Given the description of an element on the screen output the (x, y) to click on. 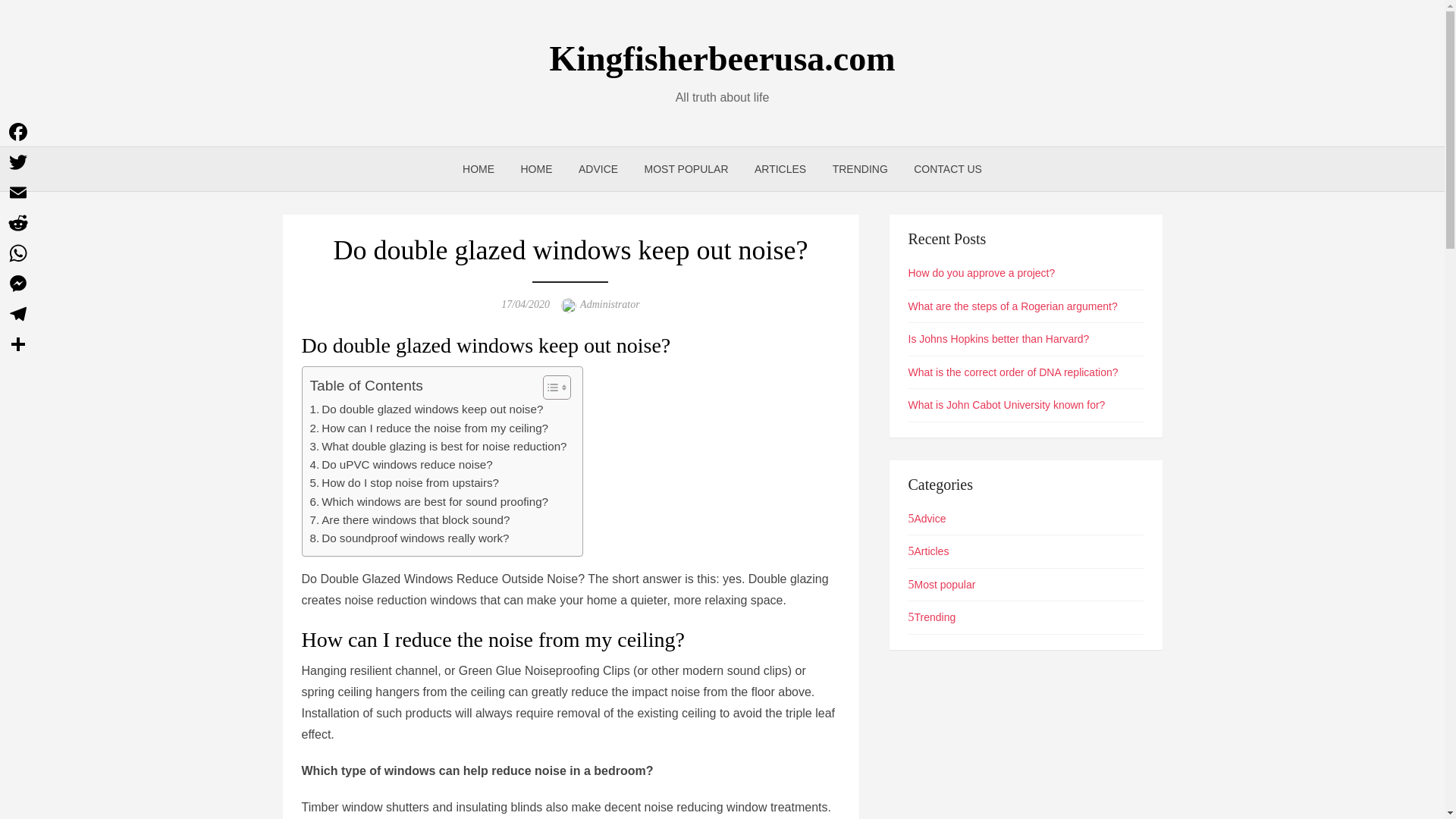
MOST POPULAR (686, 168)
Which windows are best for sound proofing? (428, 502)
What is the correct order of DNA replication? (1013, 372)
Twitter (17, 162)
Articles (928, 551)
How do I stop noise from upstairs? (403, 483)
What is John Cabot University known for? (1006, 404)
ADVICE (597, 168)
Do double glazed windows keep out noise? (425, 409)
Do soundproof windows really work? (408, 538)
Kingfisherbeerusa.com (721, 58)
How can I reduce the noise from my ceiling? (428, 427)
What double glazing is best for noise reduction? (437, 446)
CONTACT US (947, 168)
Are there windows that block sound? (408, 520)
